Given the description of an element on the screen output the (x, y) to click on. 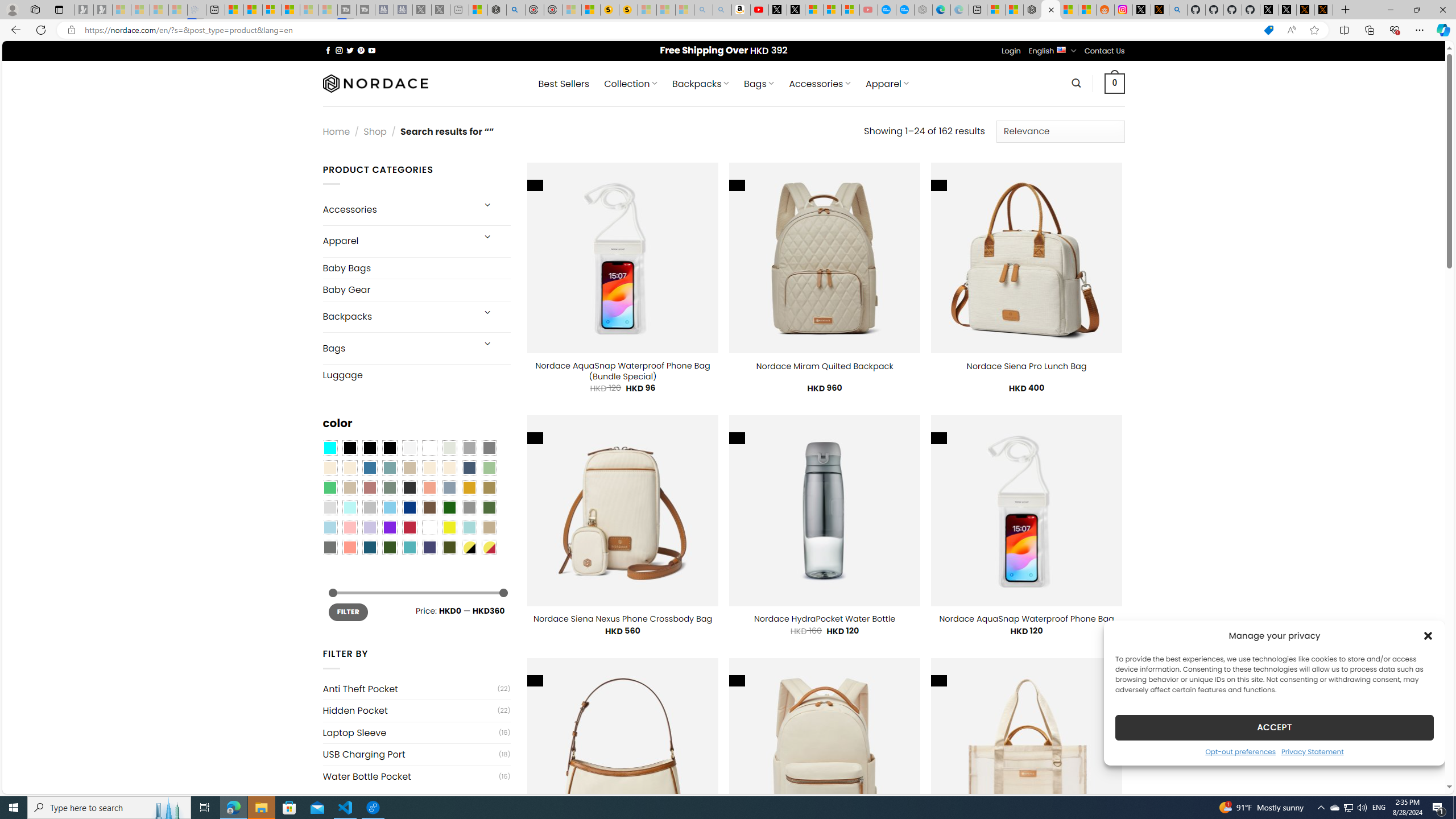
Sage (389, 487)
Light Gray (329, 507)
Aqua Blue (329, 447)
Khaki (488, 527)
Dusty Blue (449, 487)
Water Bottle Pocket (410, 776)
Accessories (397, 209)
Opinion: Op-Ed and Commentary - USA TODAY (887, 9)
Overview (271, 9)
Light Green (488, 467)
Forest (389, 547)
